Given the description of an element on the screen output the (x, y) to click on. 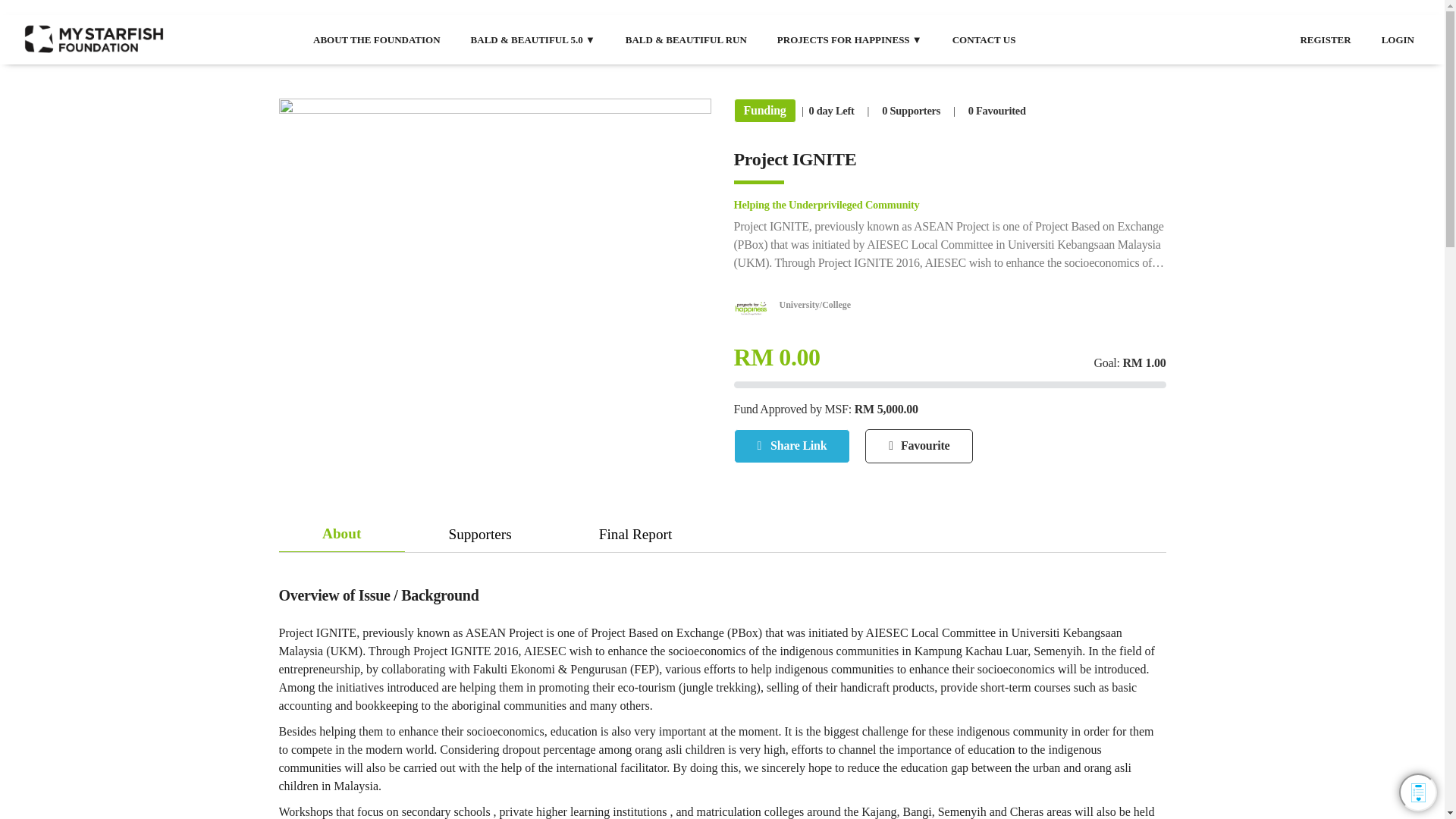
About (341, 533)
REGISTER (1325, 39)
Share Link (791, 446)
Supporters (479, 534)
Favourite (918, 446)
Final Report (635, 534)
CONTACT US (984, 39)
ABOUT THE FOUNDATION (377, 39)
